Given the description of an element on the screen output the (x, y) to click on. 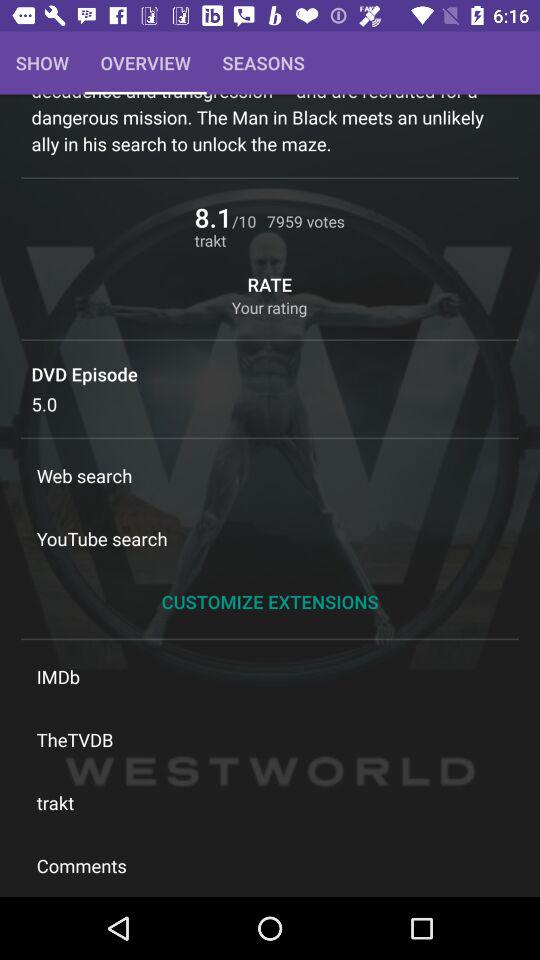
scroll until imdb (270, 676)
